Given the description of an element on the screen output the (x, y) to click on. 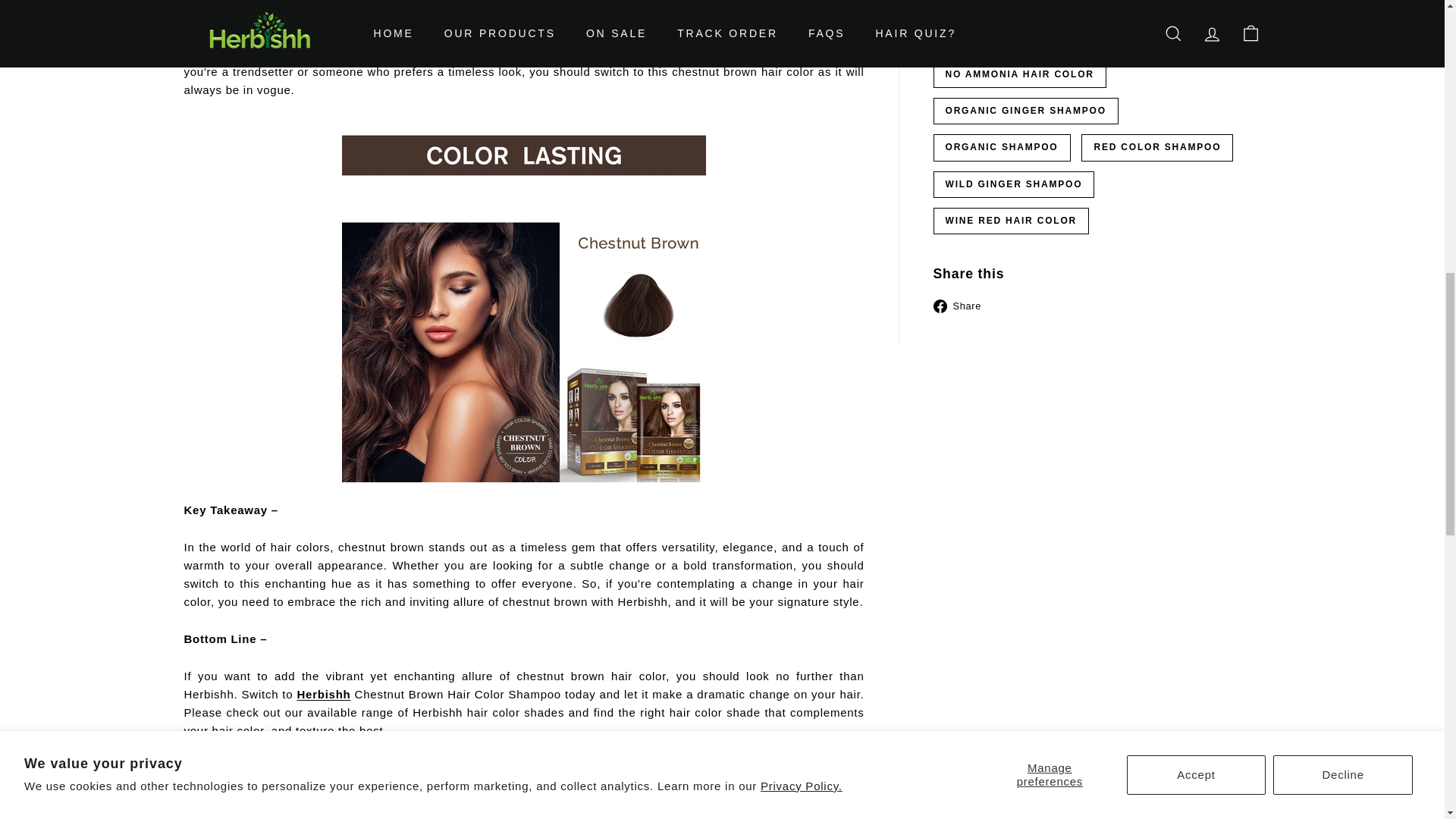
Share on Facebook (962, 305)
